Given the description of an element on the screen output the (x, y) to click on. 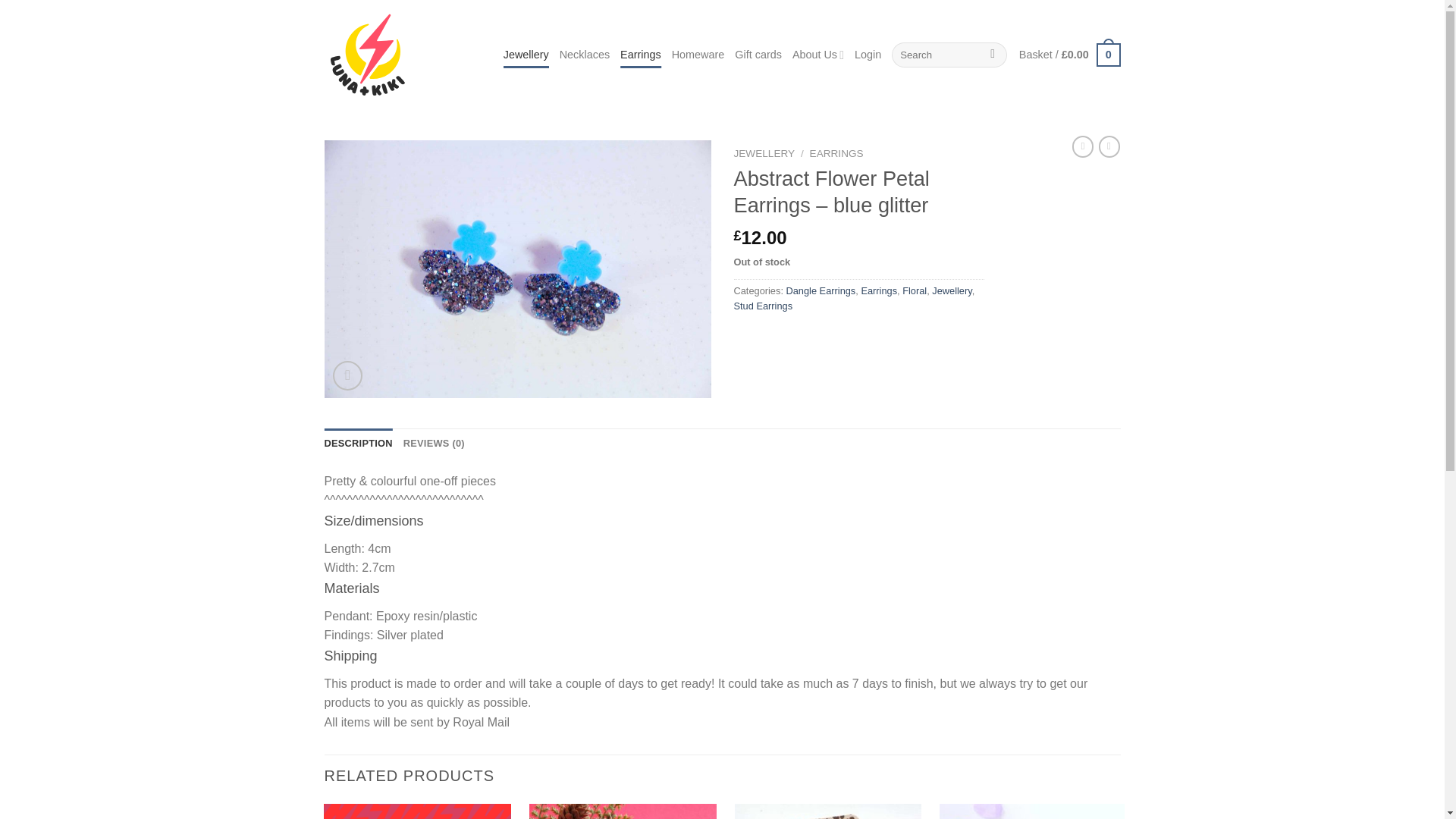
Jewellery (951, 290)
Search (992, 54)
Dangle Earrings (821, 290)
About Us (818, 54)
Zoom (347, 375)
Homeware (698, 53)
Login (867, 53)
Jewellery (525, 53)
JEWELLERY (763, 153)
Earrings (878, 290)
Stud Earrings (763, 306)
EARRINGS (836, 153)
Basket (1070, 53)
Floral (914, 290)
Earrings (640, 53)
